Given the description of an element on the screen output the (x, y) to click on. 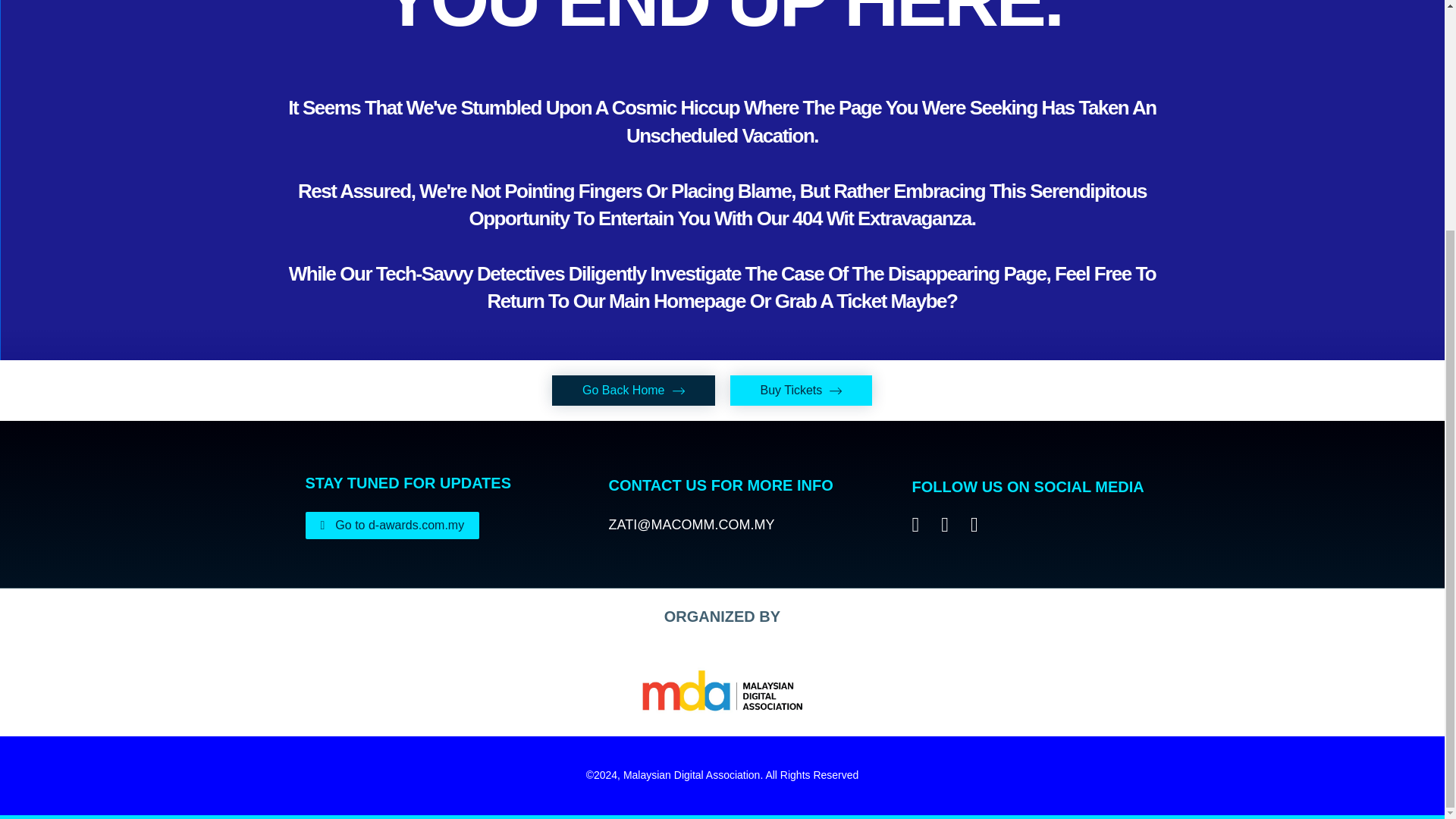
Go to d-awards.com.my (391, 524)
Arrow-Icon-Size3 (632, 390)
Arrow-Icon-Size3 (800, 390)
